Given the description of an element on the screen output the (x, y) to click on. 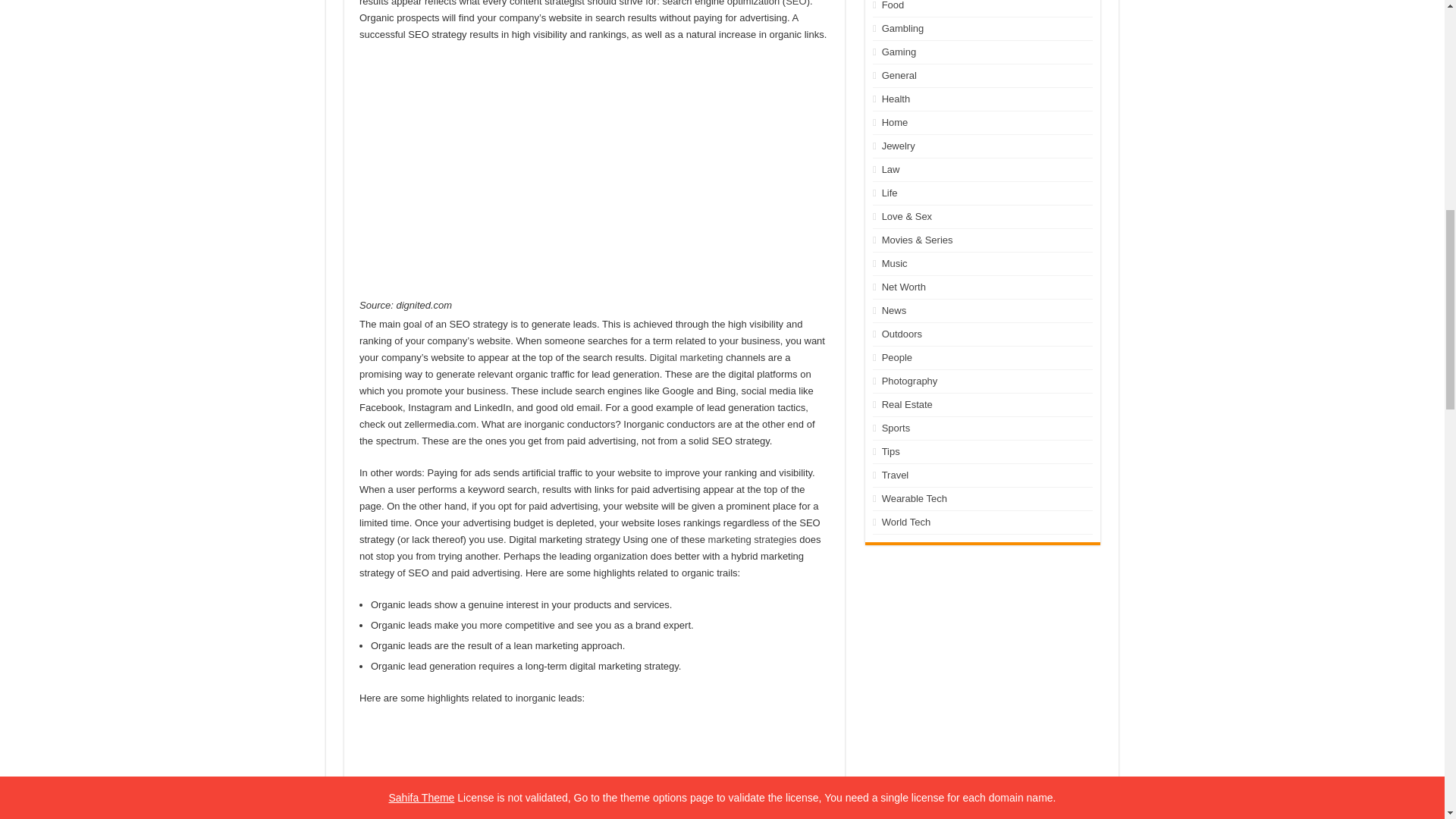
Digital marketing (686, 357)
SEO (796, 3)
marketing strategies (751, 539)
Scroll To Top (1421, 60)
